Given the description of an element on the screen output the (x, y) to click on. 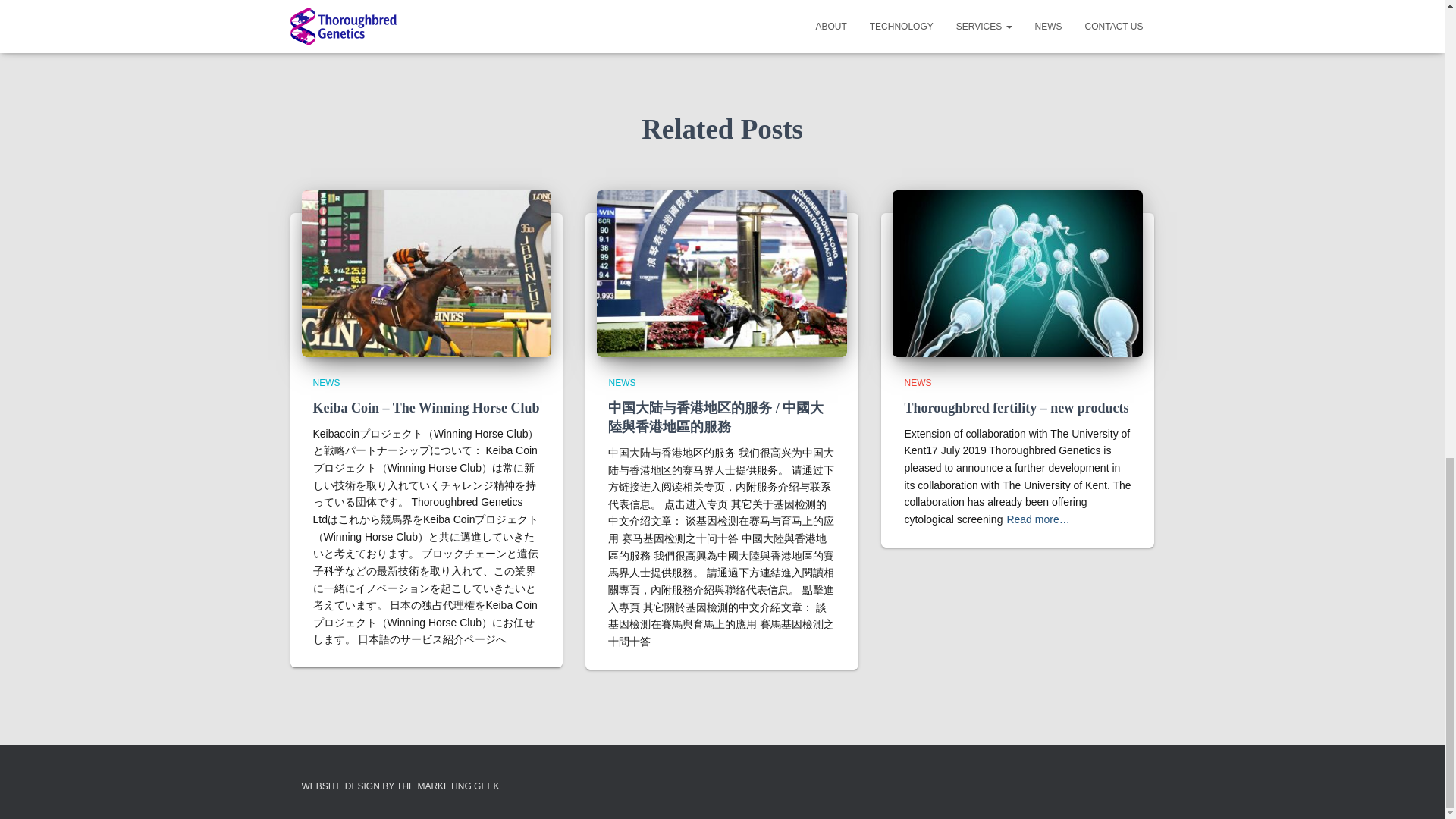
NEWS (326, 382)
WEBSITE DESIGN BY THE MARKETING GEEK (400, 786)
NEWS (621, 382)
NEWS (917, 382)
View all posts in News (621, 382)
View all posts in News (326, 382)
